Given the description of an element on the screen output the (x, y) to click on. 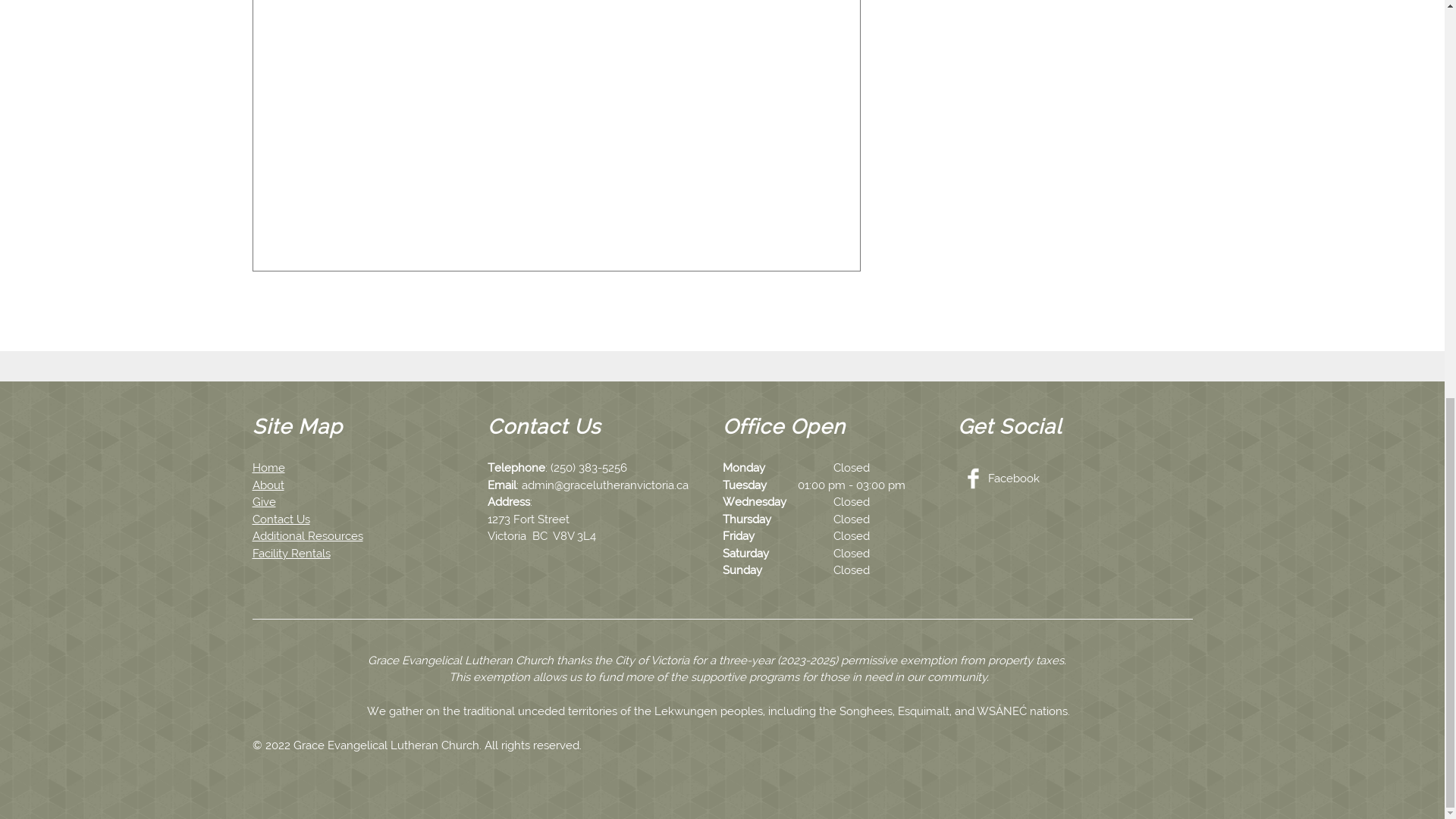
Facebook (1006, 478)
Facility Rentals (290, 553)
Contact Us (279, 518)
Give (263, 501)
About (267, 485)
Additional Resources (306, 535)
Home (267, 468)
